Given the description of an element on the screen output the (x, y) to click on. 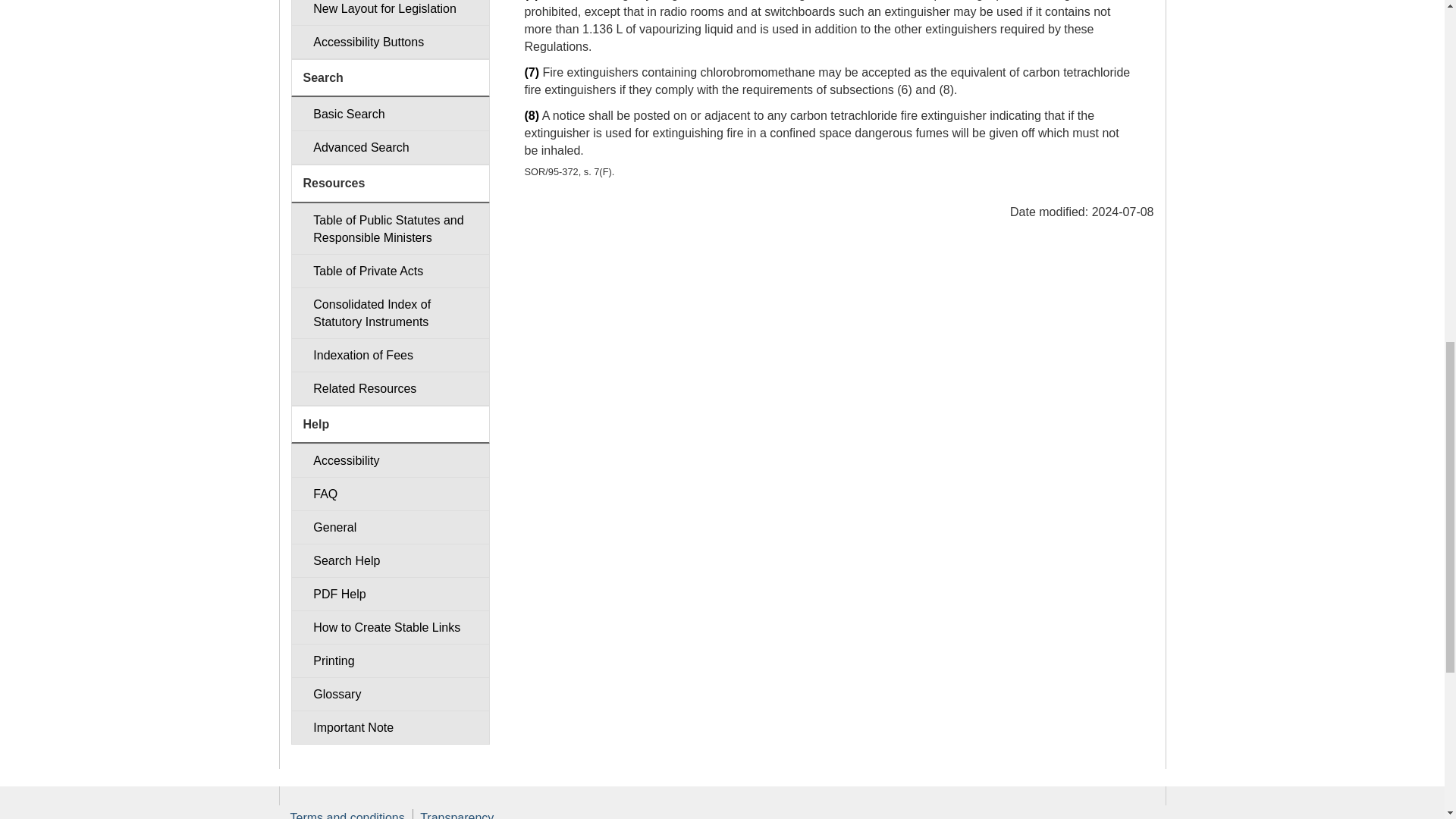
Advanced Search (390, 147)
Frequently Asked Questions (390, 493)
Table of Private Acts (390, 270)
Indexation of Fees (390, 355)
Advanced Search - Justice Laws Website (390, 147)
Accessibility Help (390, 460)
Related Resources (390, 388)
Printing Help (390, 660)
General Help (390, 527)
Search - Justice Laws Website (390, 114)
Basic Search (390, 114)
Consolidated Index of Statutory Instruments (390, 313)
Table of Public Statutes and Responsible Ministers (390, 228)
New Layout for Legislation (390, 12)
Accessibility Buttons (390, 41)
